Given the description of an element on the screen output the (x, y) to click on. 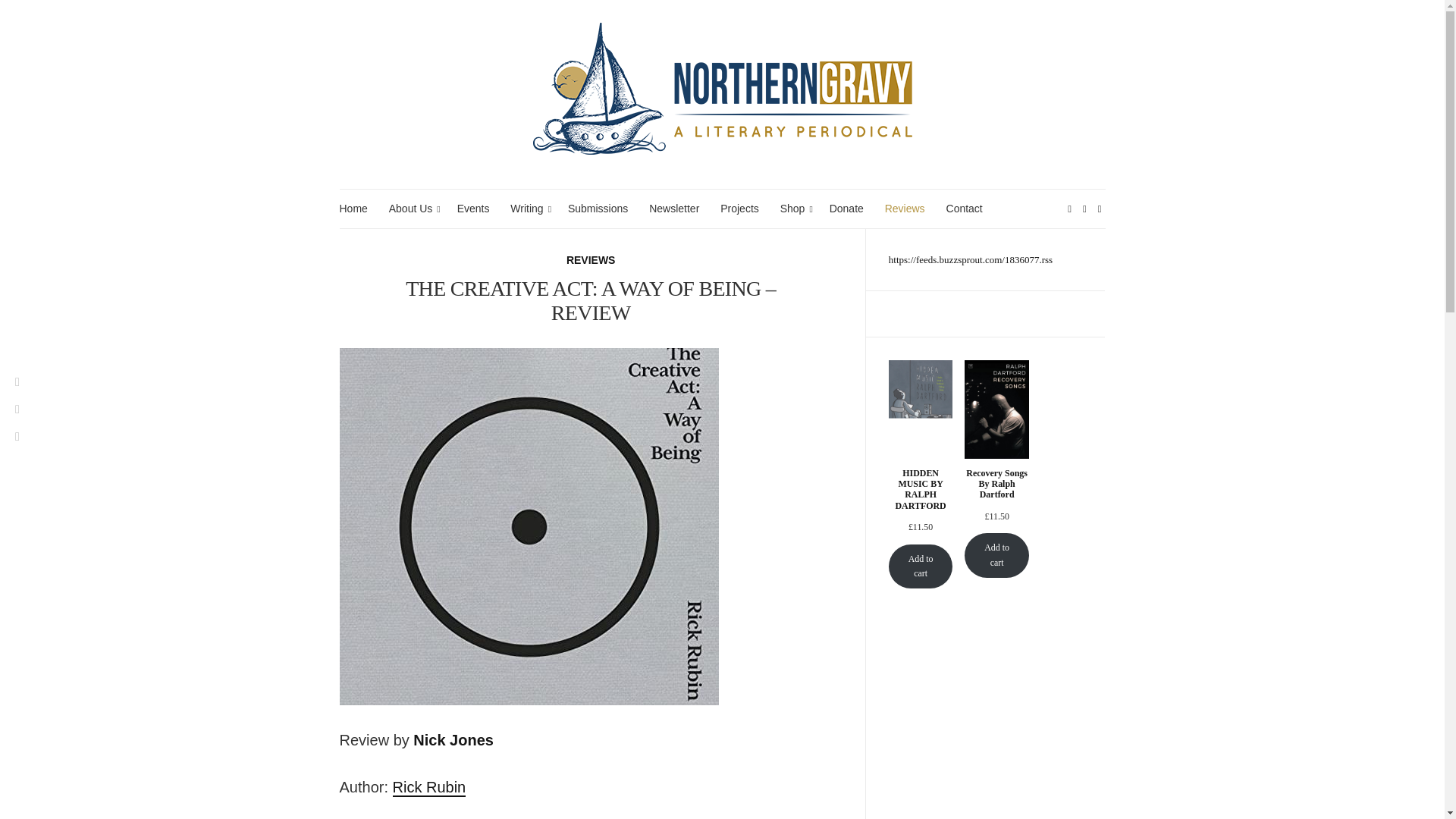
Rick Rubin (429, 787)
Nick Jones (453, 740)
About Us (411, 208)
Contact (964, 208)
Writing (529, 208)
Newsletter (673, 208)
REVIEWS (590, 260)
Donate (846, 208)
Home (353, 208)
Shop (794, 208)
